Given the description of an element on the screen output the (x, y) to click on. 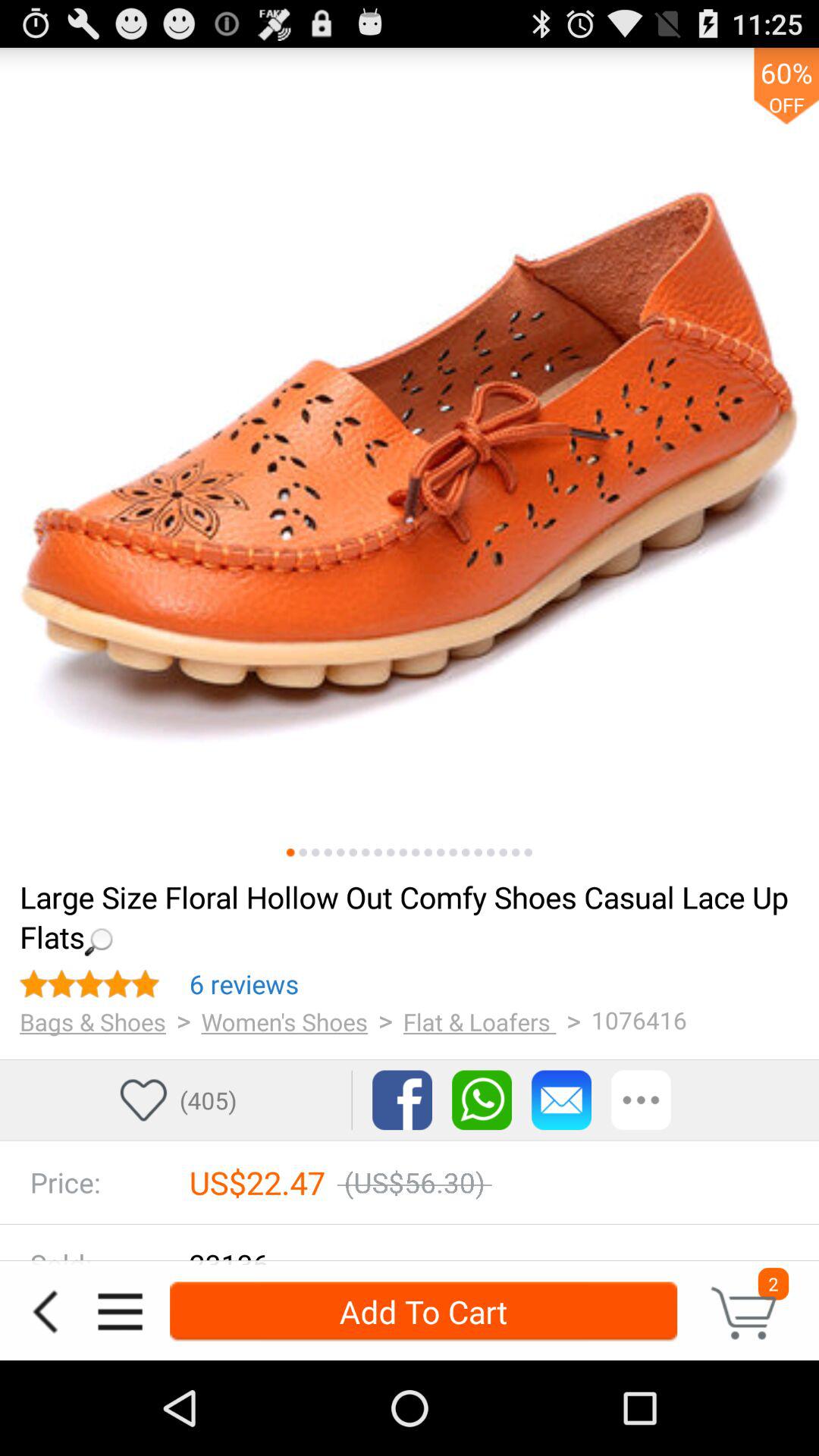
go to this page (490, 852)
